Given the description of an element on the screen output the (x, y) to click on. 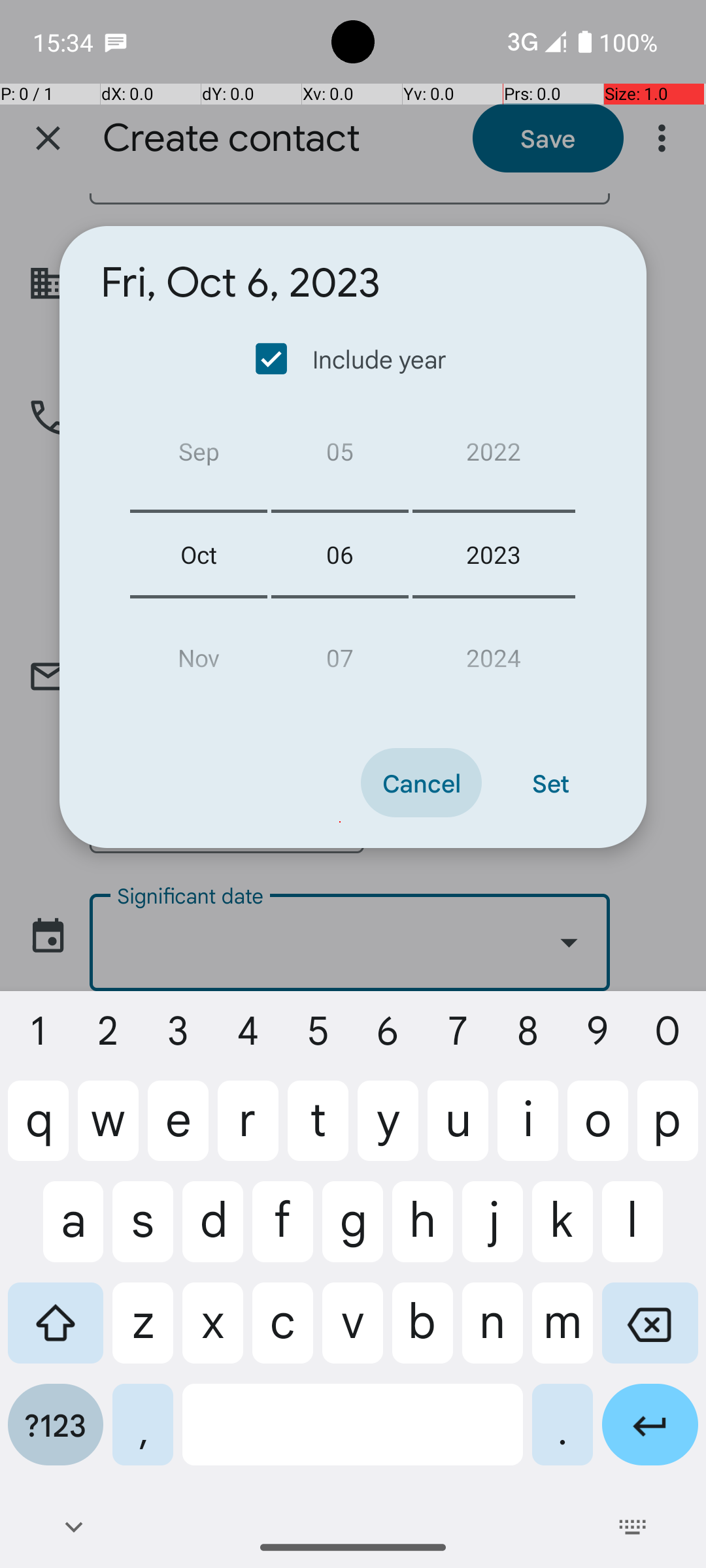
Fri, Oct 6, 2023 Element type: android.widget.TextView (240, 282)
Include year Element type: android.widget.CheckBox (351, 358)
Sep Element type: android.widget.Button (198, 455)
Oct Element type: android.widget.EditText (198, 553)
Nov Element type: android.widget.Button (198, 651)
05 Element type: android.widget.Button (339, 455)
06 Element type: android.widget.EditText (339, 553)
07 Element type: android.widget.Button (339, 651)
2022 Element type: android.widget.Button (493, 455)
2024 Element type: android.widget.Button (493, 651)
Set Element type: android.widget.Button (550, 782)
